Given the description of an element on the screen output the (x, y) to click on. 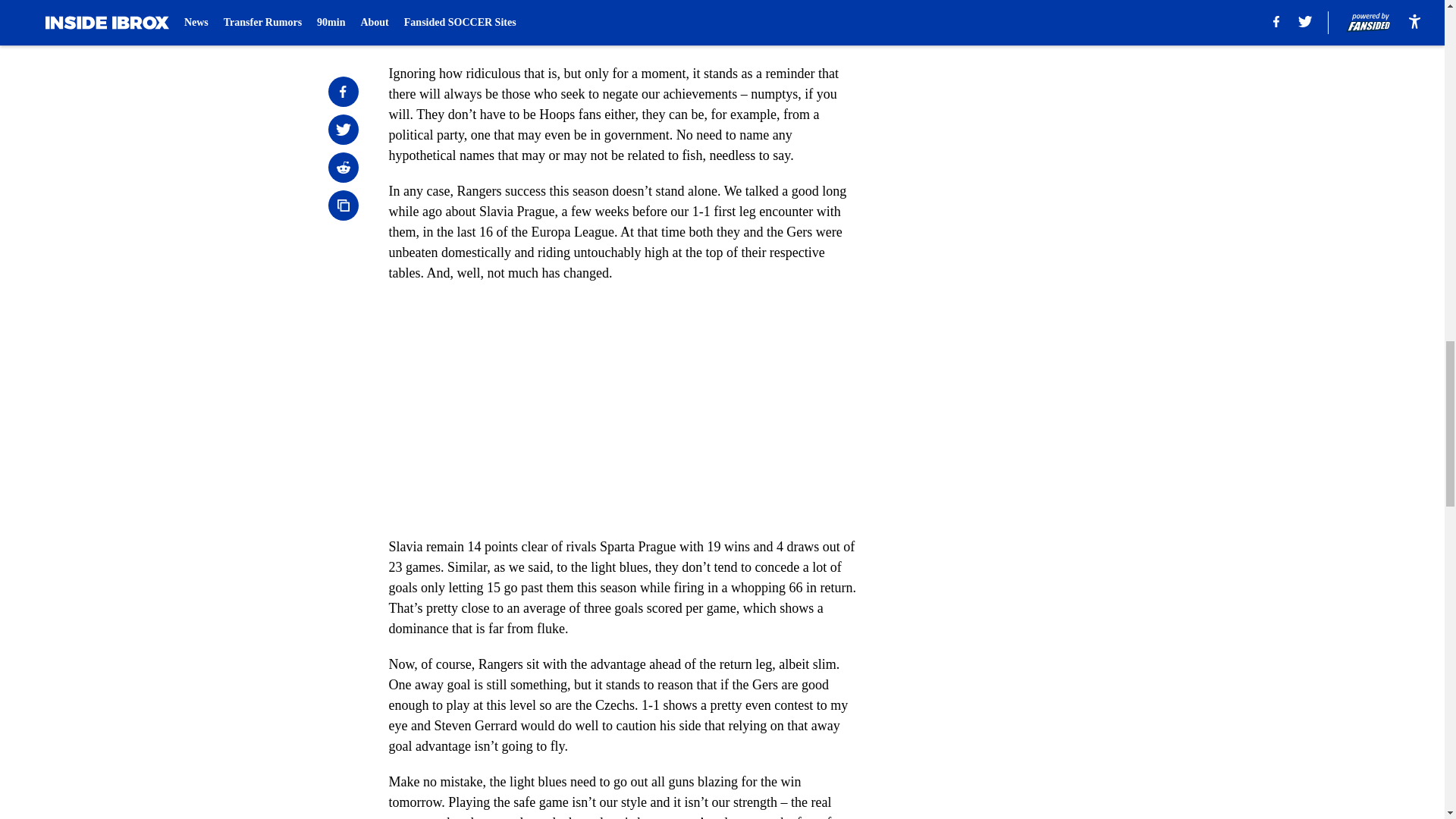
Rangers board and management not singing off same hymn sheet (581, 2)
Rangers players on international duty September 2023 (551, 17)
